Given the description of an element on the screen output the (x, y) to click on. 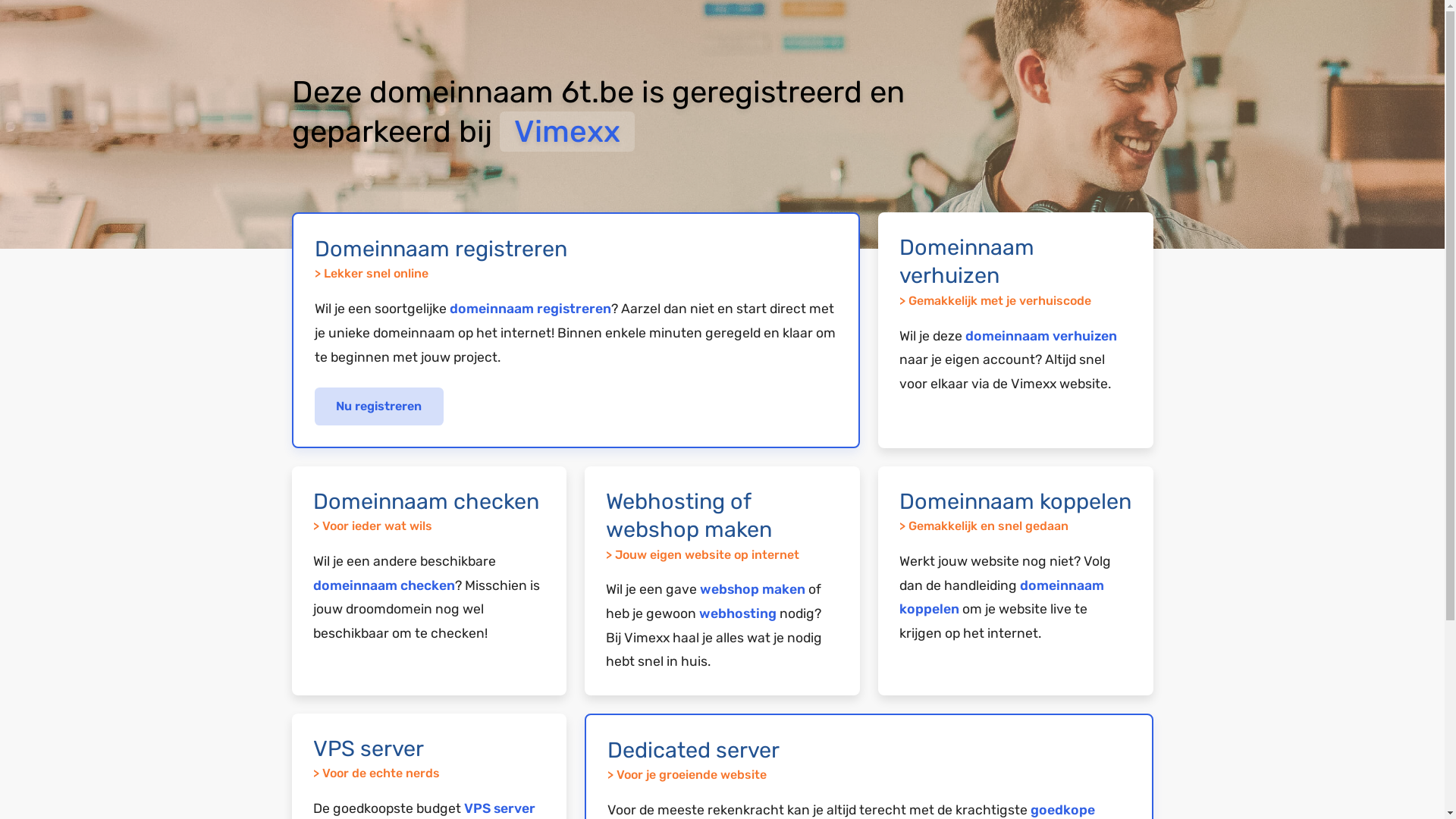
domeinnaam registreren Element type: text (529, 308)
domeinnaam checken Element type: text (383, 585)
Nu registreren Element type: text (378, 406)
domeinnaam koppelen Element type: text (1001, 597)
webshop maken Element type: text (752, 588)
VPS server Element type: text (499, 807)
webhosting Element type: text (737, 613)
domeinnaam verhuizen Element type: text (1041, 335)
Vimexx Element type: text (565, 131)
